Given the description of an element on the screen output the (x, y) to click on. 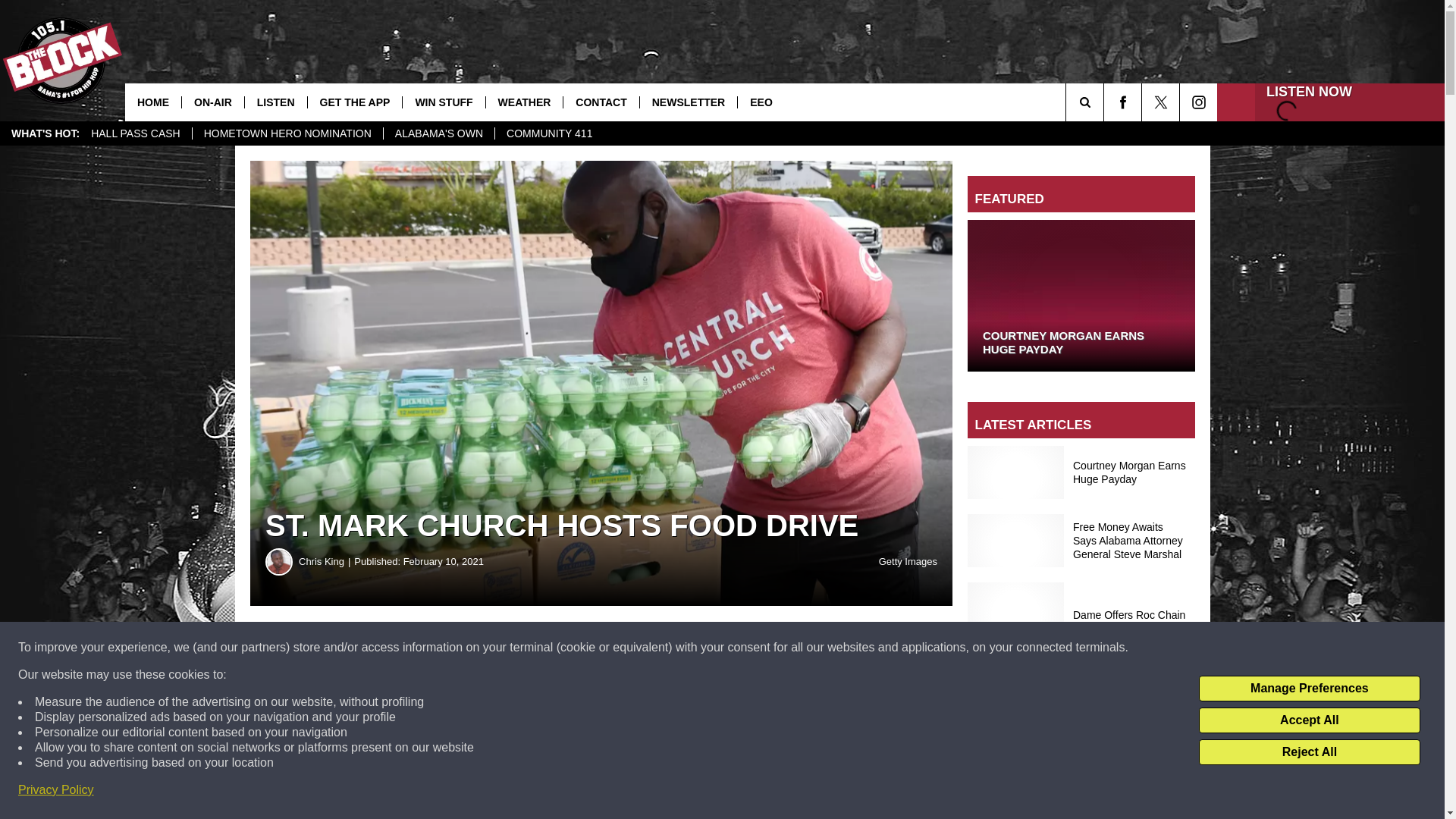
Accept All (1309, 720)
GET THE APP (355, 102)
Reject All (1309, 751)
HOME (152, 102)
WIN STUFF (442, 102)
Share on Twitter (741, 647)
ON-AIR (212, 102)
COMMUNITY 411 (549, 133)
Manage Preferences (1309, 688)
CONTACT (600, 102)
